Given the description of an element on the screen output the (x, y) to click on. 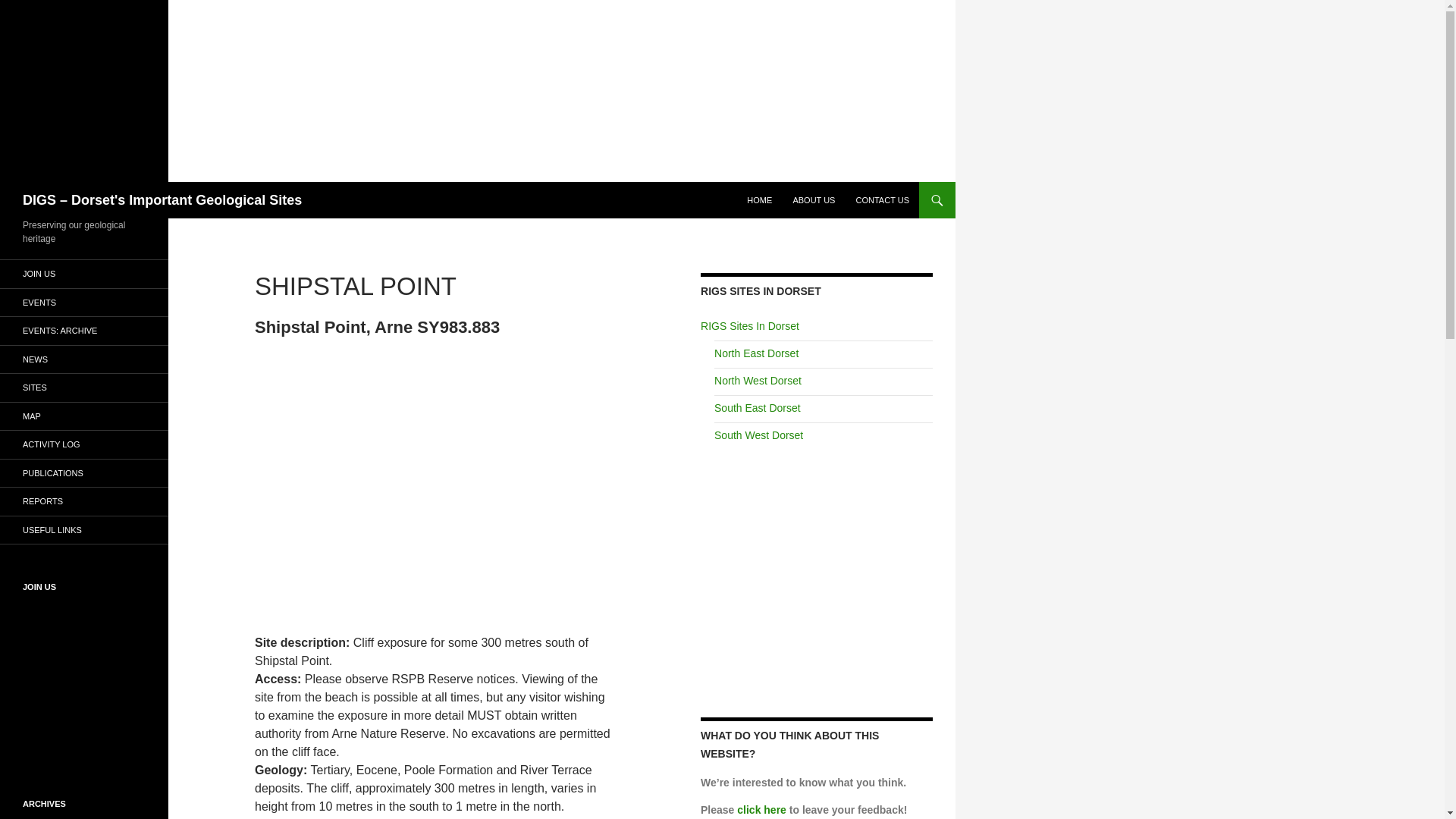
ACTIVITY LOG (84, 444)
North East Dorset (755, 353)
ABOUT US (813, 199)
EVENTS (84, 302)
South West Dorset (758, 435)
RIGS Sites In Dorset (749, 326)
REPORTS (84, 501)
CONTACT US (881, 199)
North West Dorset (758, 380)
